Given the description of an element on the screen output the (x, y) to click on. 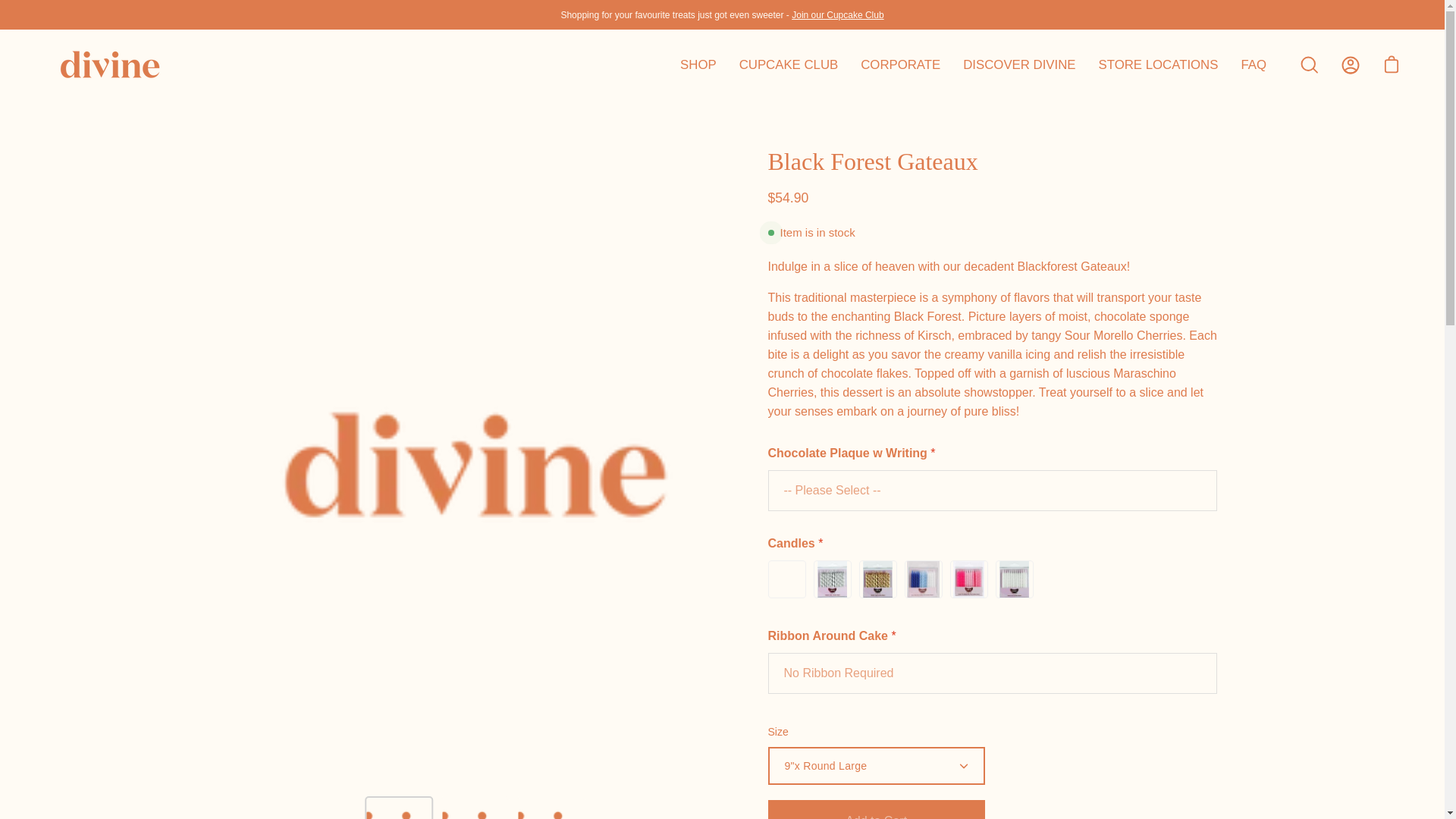
Cupcake Club (837, 15)
Join our Cupcake Club (837, 15)
